Given the description of an element on the screen output the (x, y) to click on. 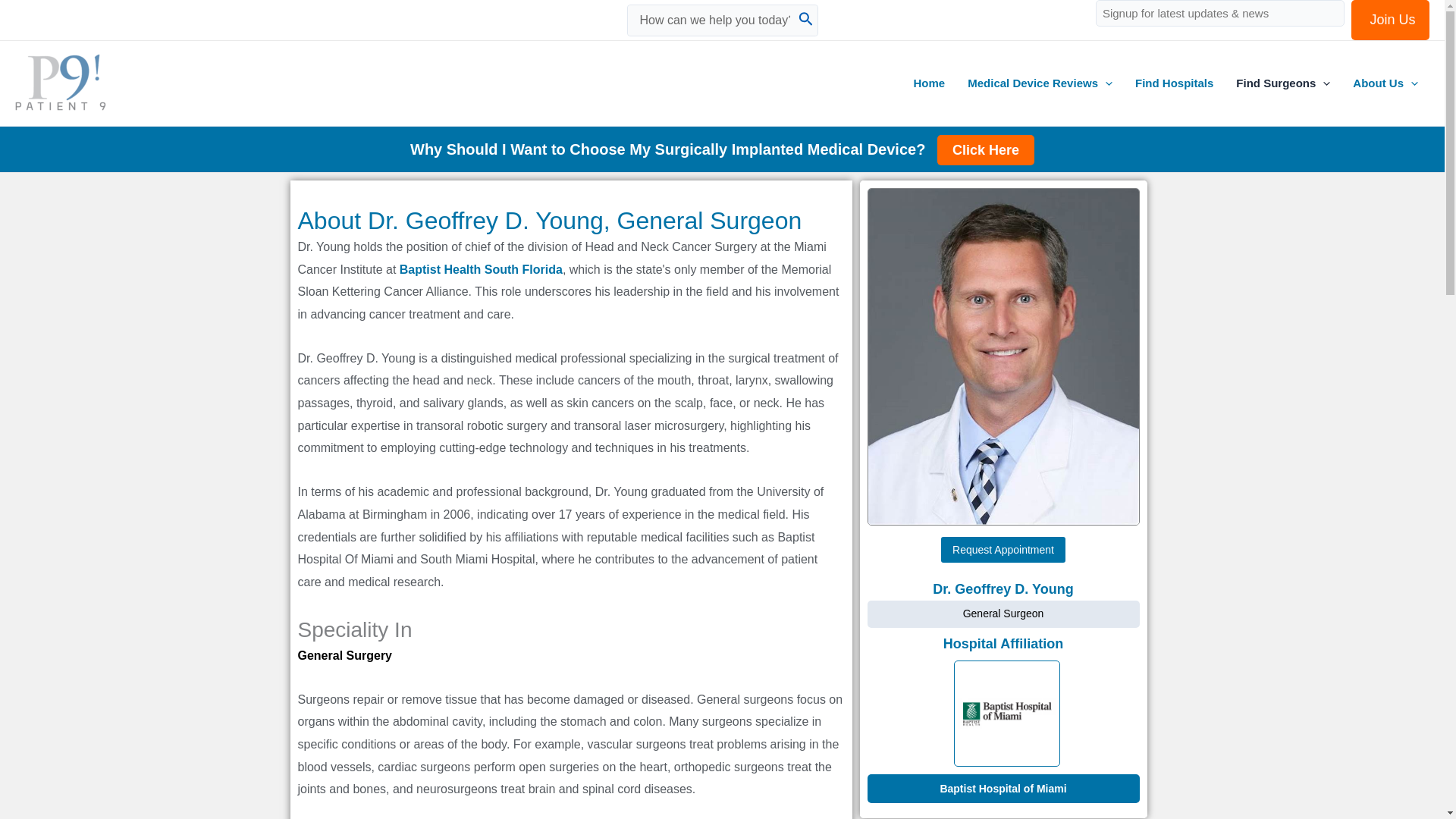
Join Us (1390, 20)
Find Surgeons (1282, 83)
Join Us (1390, 20)
Home (929, 83)
Find Hospitals (1174, 83)
Medical Device Reviews (1040, 83)
